Given the description of an element on the screen output the (x, y) to click on. 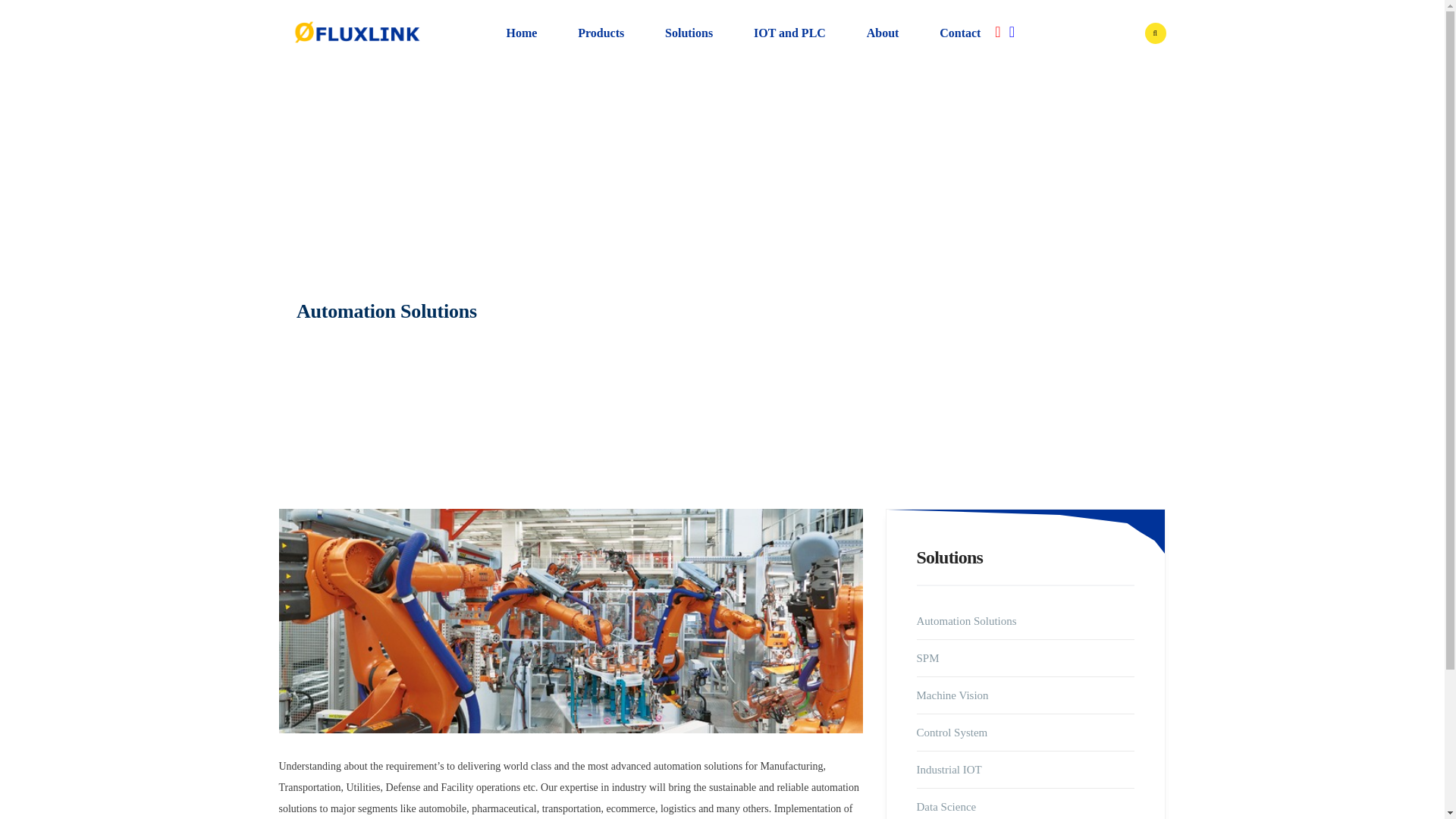
Products (601, 33)
Solutions (689, 33)
Home (521, 33)
